Given the description of an element on the screen output the (x, y) to click on. 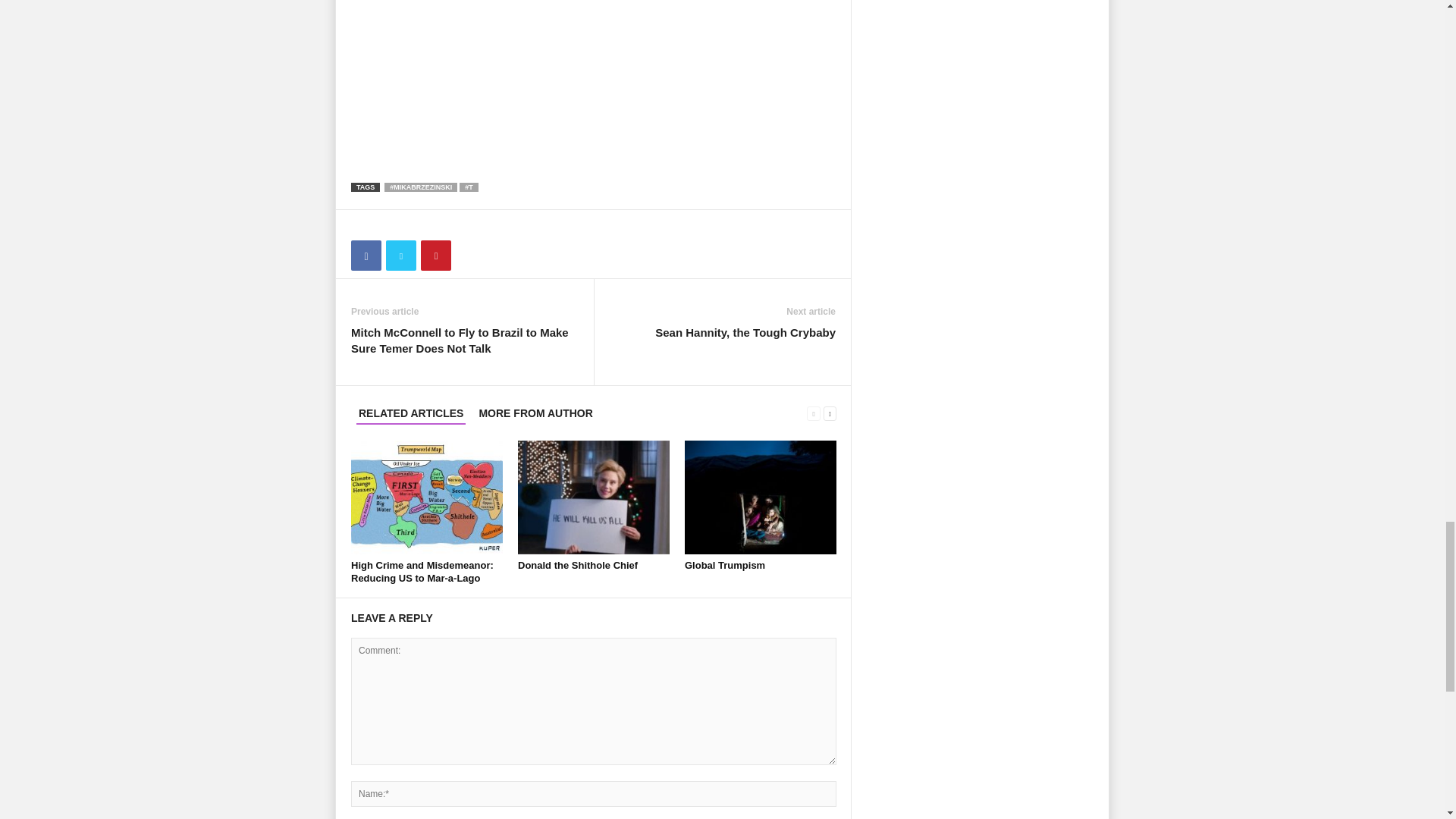
High Crime and Misdemeanor: Reducing US to Mar-a-Lago (421, 571)
High Crime and Misdemeanor: Reducing US to Mar-a-Lago (426, 497)
Donald the Shithole Chief (577, 564)
The Beatles - Hello, Goodbye (592, 79)
Donald the Shithole Chief (593, 497)
